Given the description of an element on the screen output the (x, y) to click on. 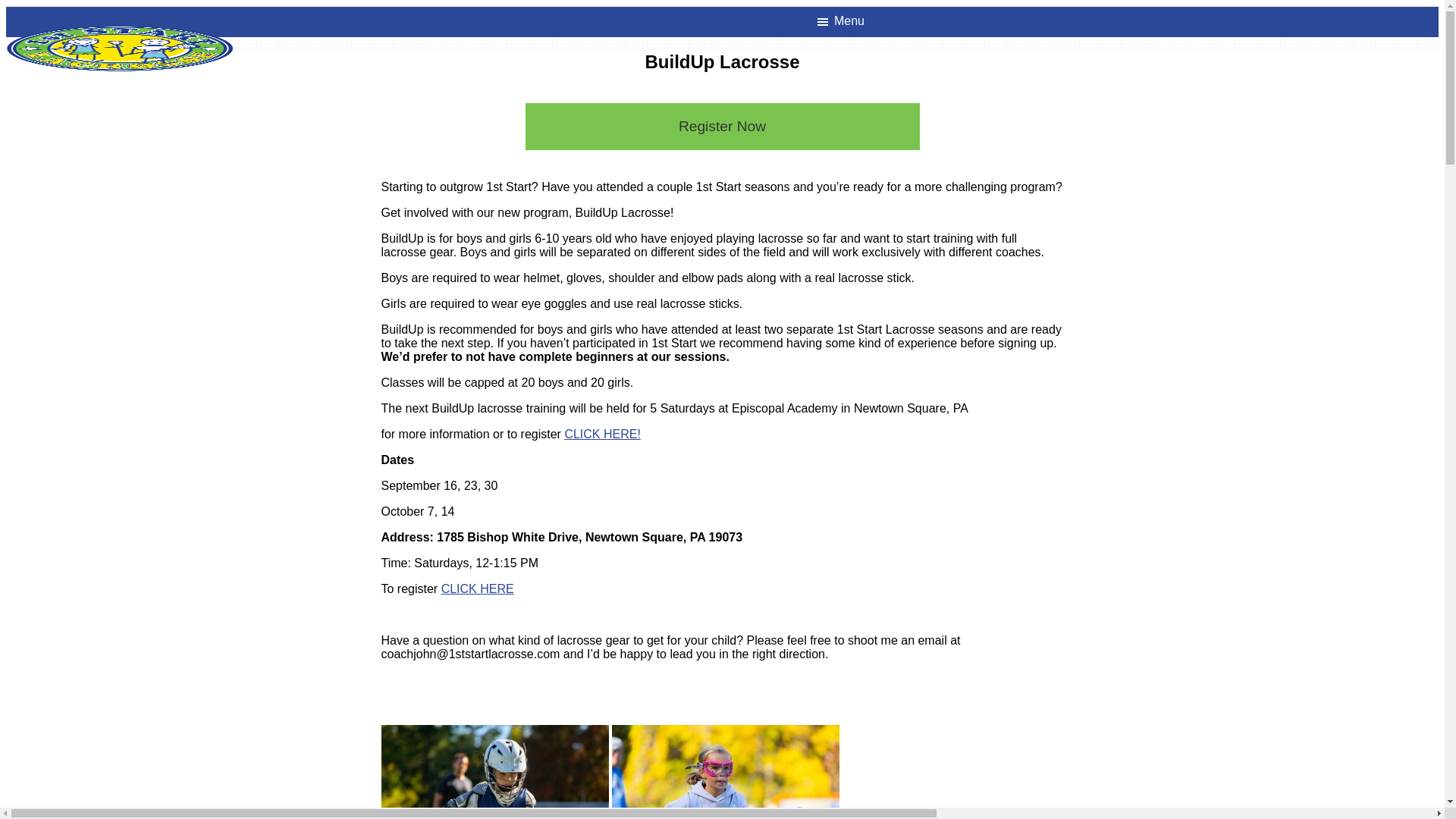
Register Now Element type: text (721, 126)
CLICK HERE! Element type: text (602, 433)
CLICK HERE Element type: text (477, 588)
1st Start Lacrosse Element type: hover (119, 48)
1st Start Lacrosse Element type: hover (119, 31)
